Given the description of an element on the screen output the (x, y) to click on. 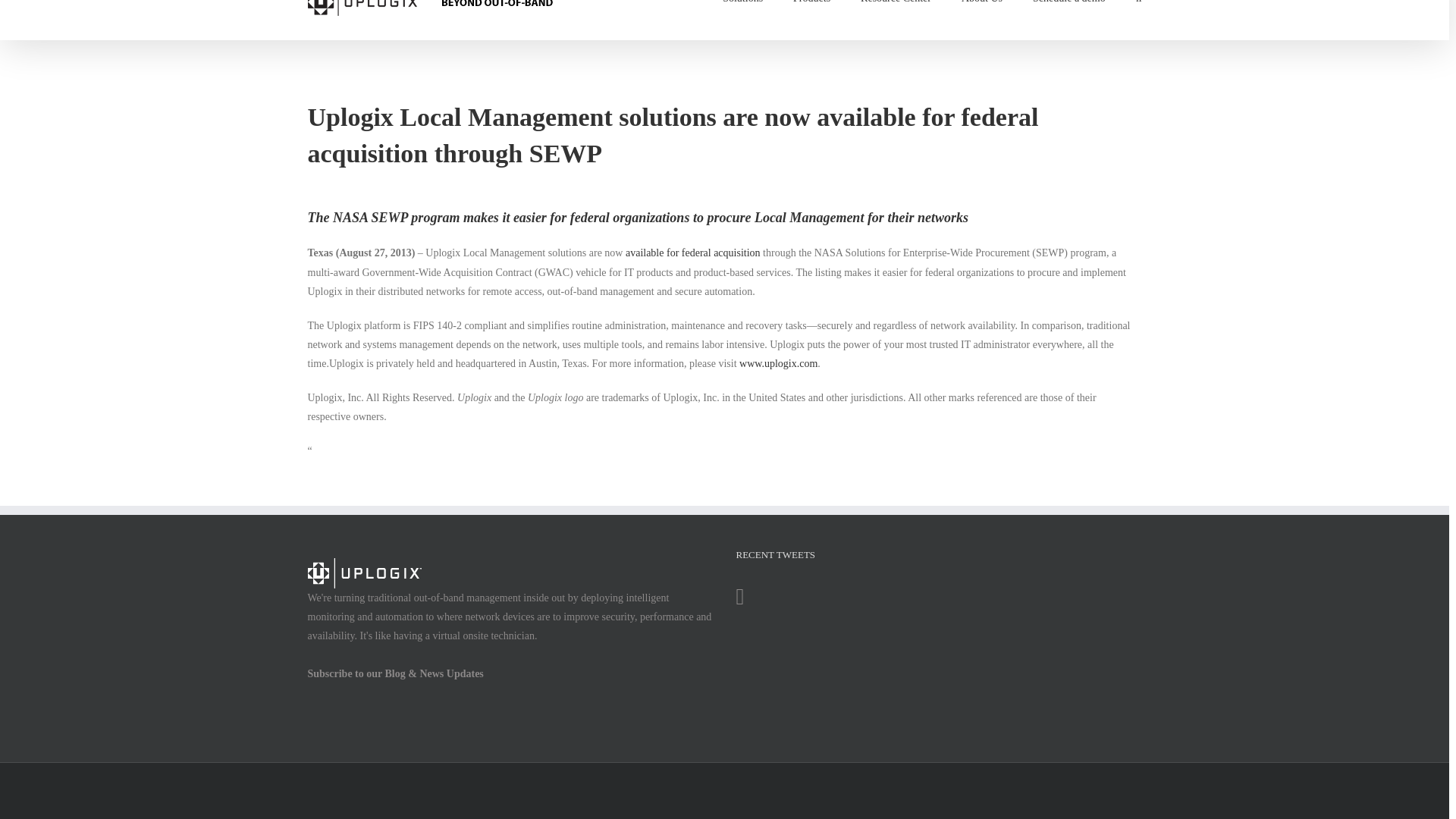
Products (811, 14)
Resource Center (895, 14)
Solutions (742, 14)
